Given the description of an element on the screen output the (x, y) to click on. 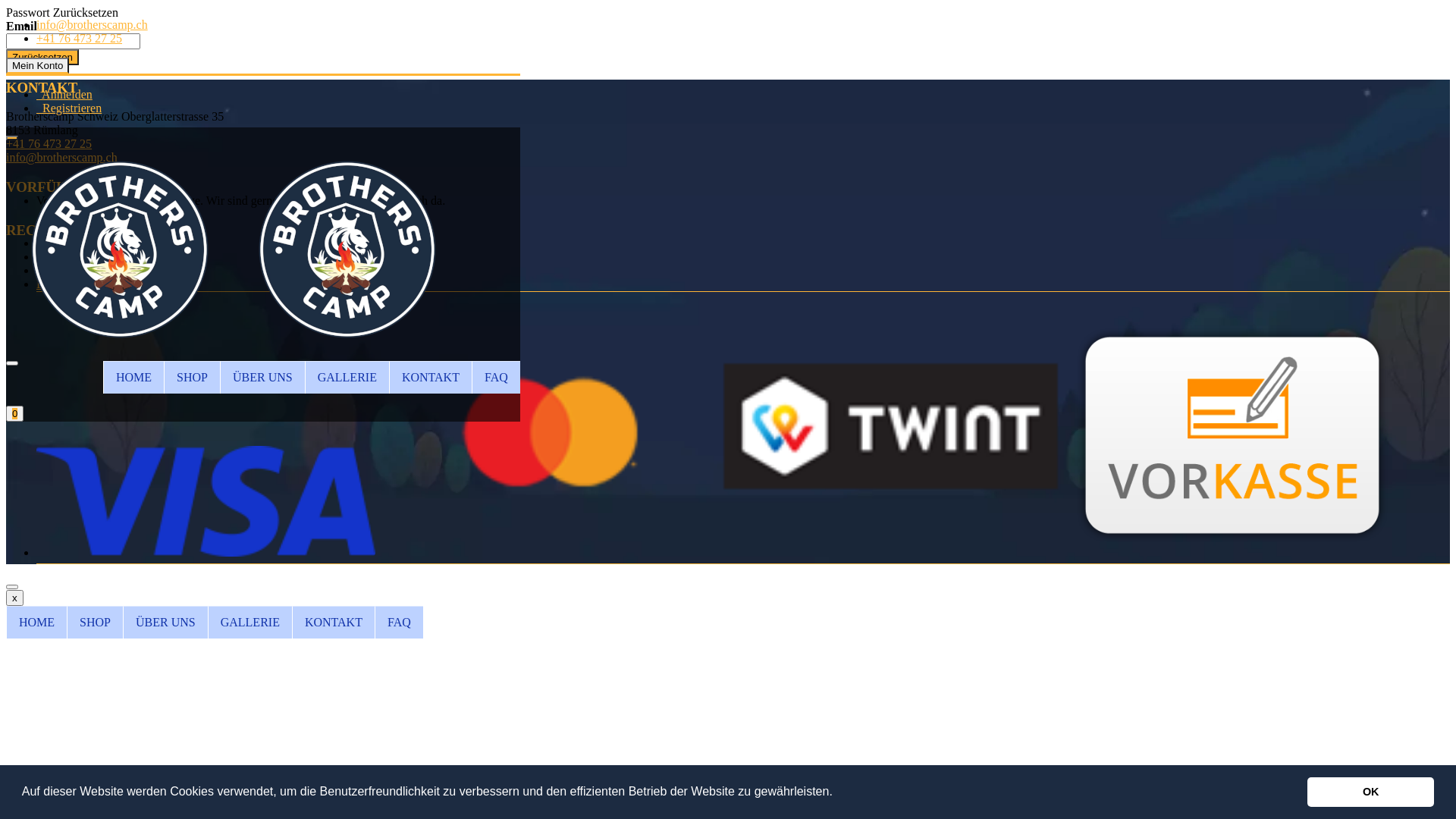
GALLERIE Element type: text (249, 621)
+41 76 473 27 25 Element type: text (79, 37)
SHOP Element type: text (191, 376)
OK Element type: text (1370, 791)
info@brotherscamp.ch Element type: text (61, 156)
HOME Element type: text (36, 621)
+41 76 473 27 25 Element type: text (48, 143)
AGB Element type: text (49, 256)
GALLERIE Element type: text (346, 376)
KONTAKT Element type: text (430, 376)
HOME Element type: text (133, 376)
Mein Konto Element type: text (37, 65)
SHOP Element type: text (94, 621)
FAQ Element type: text (398, 621)
FAQ Element type: text (495, 376)
info@brotherscamp.ch Element type: text (91, 24)
x Element type: text (14, 597)
Disclaimer Element type: text (62, 283)
  Registrieren Element type: text (68, 107)
Impressum Element type: text (63, 242)
BrothersCamp Schweiz Element type: hover (233, 353)
KONTAKT Element type: text (332, 621)
  Anmelden Element type: text (64, 93)
0 Element type: text (14, 413)
